Given the description of an element on the screen output the (x, y) to click on. 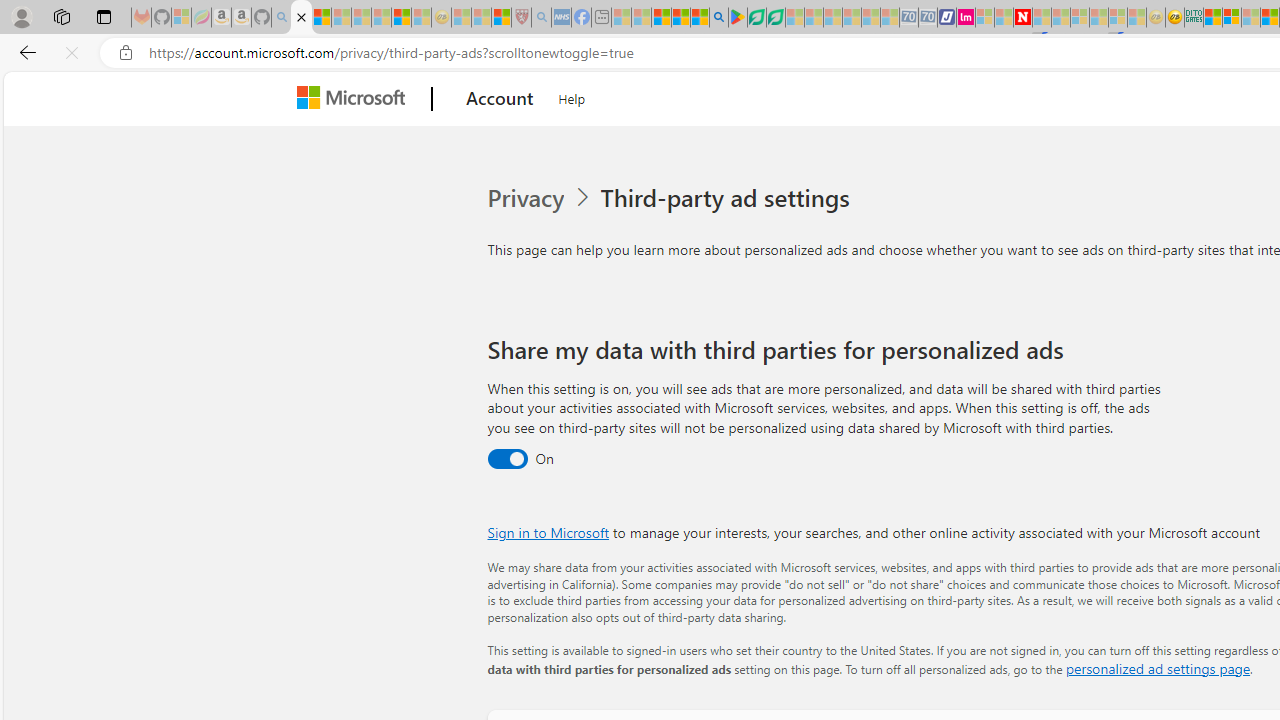
Sign in to Microsoft (548, 532)
Pets - MSN (680, 17)
Latest Politics News & Archive | Newsweek.com (1022, 17)
Jobs - lastminute.com Investor Portal (966, 17)
